Given the description of an element on the screen output the (x, y) to click on. 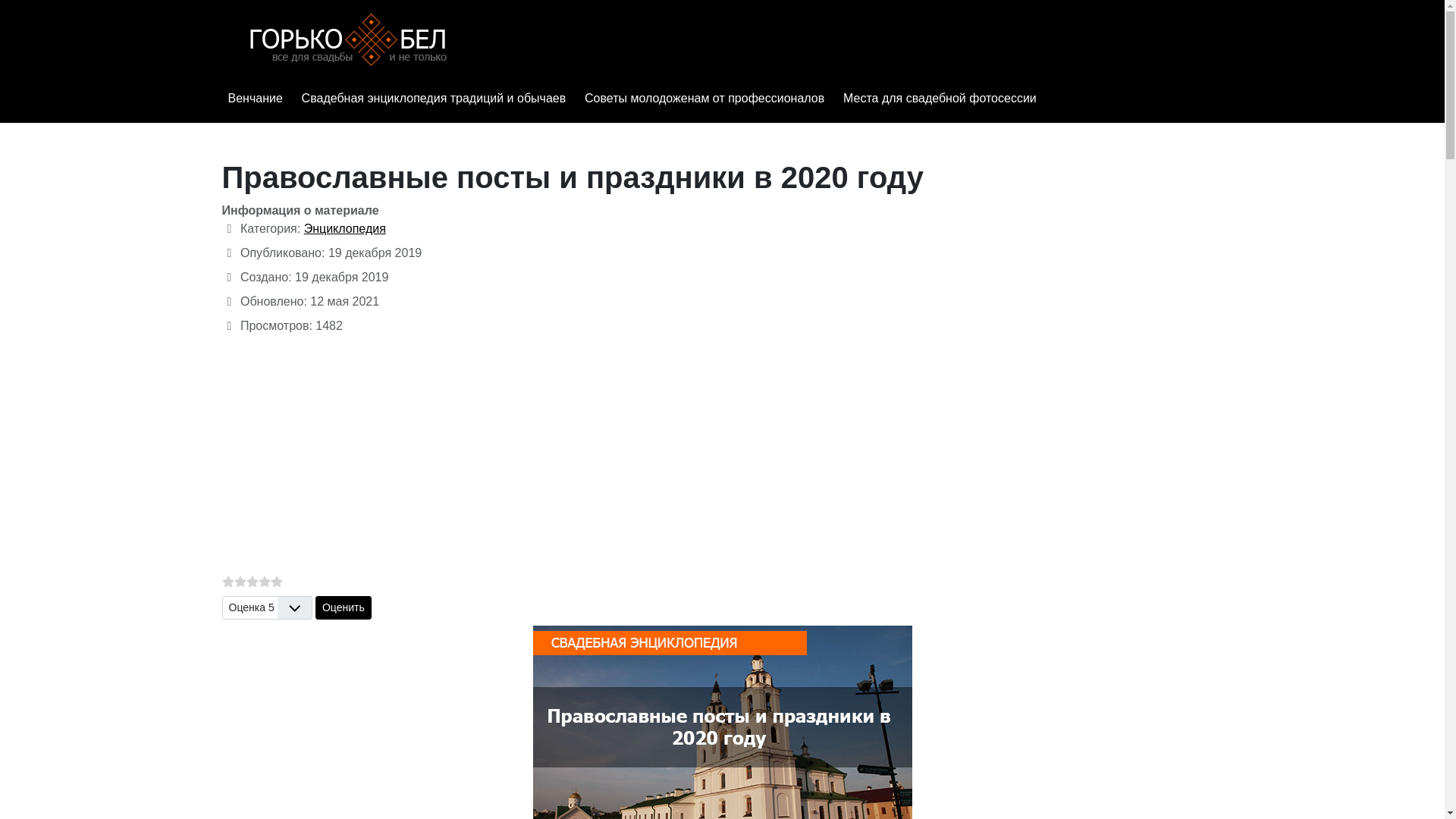
Advertisement Element type: hover (721, 453)
